Given the description of an element on the screen output the (x, y) to click on. 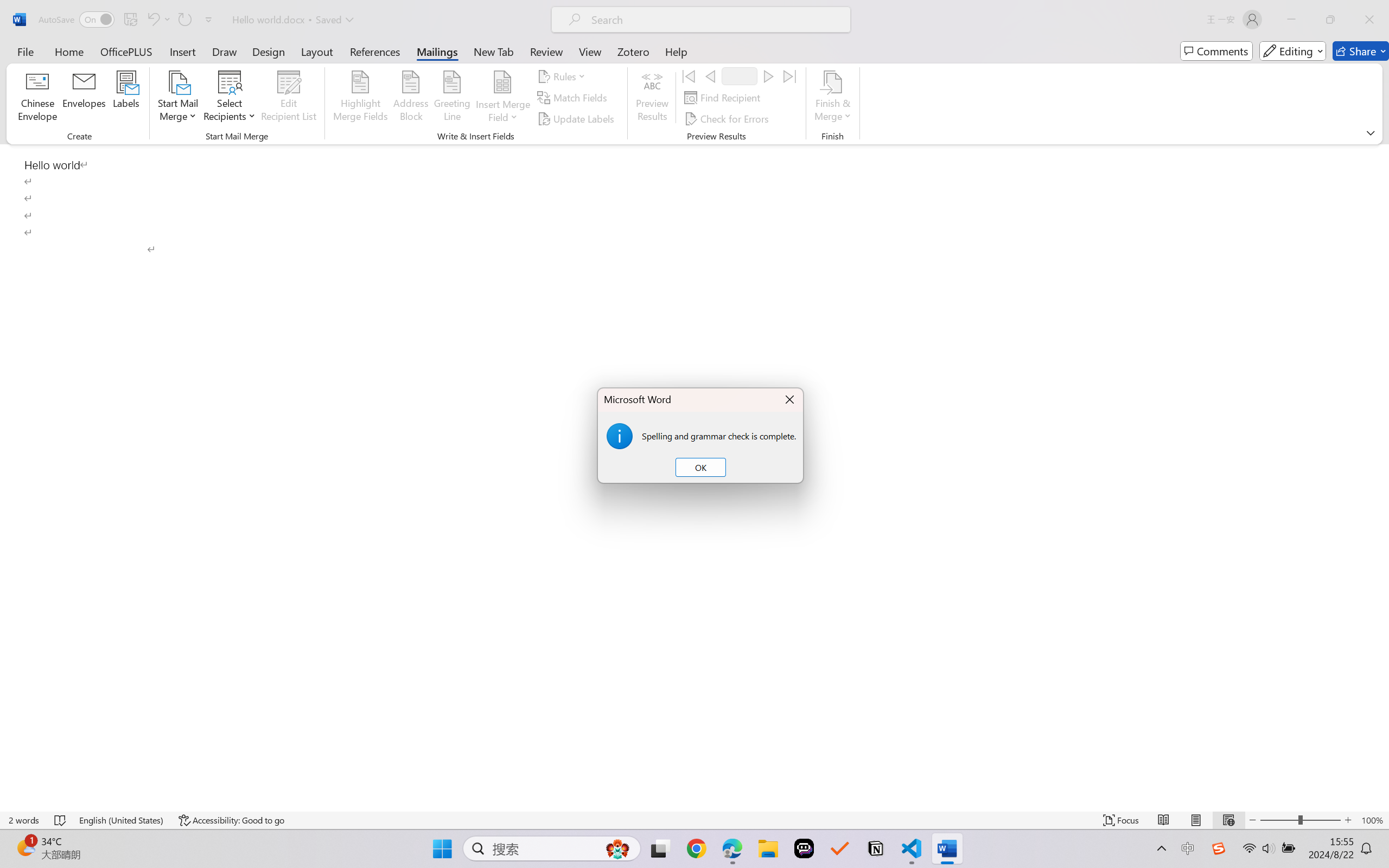
Can't Repeat (184, 19)
Accessibility Checker Accessibility: Good to go (231, 819)
Language English (United States) (121, 819)
Zoom In (1348, 819)
Zotero (632, 51)
Ribbon Display Options (1370, 132)
Insert (182, 51)
Restore Down (1330, 19)
Previous (709, 75)
Web Layout (1228, 819)
Record (739, 76)
